Given the description of an element on the screen output the (x, y) to click on. 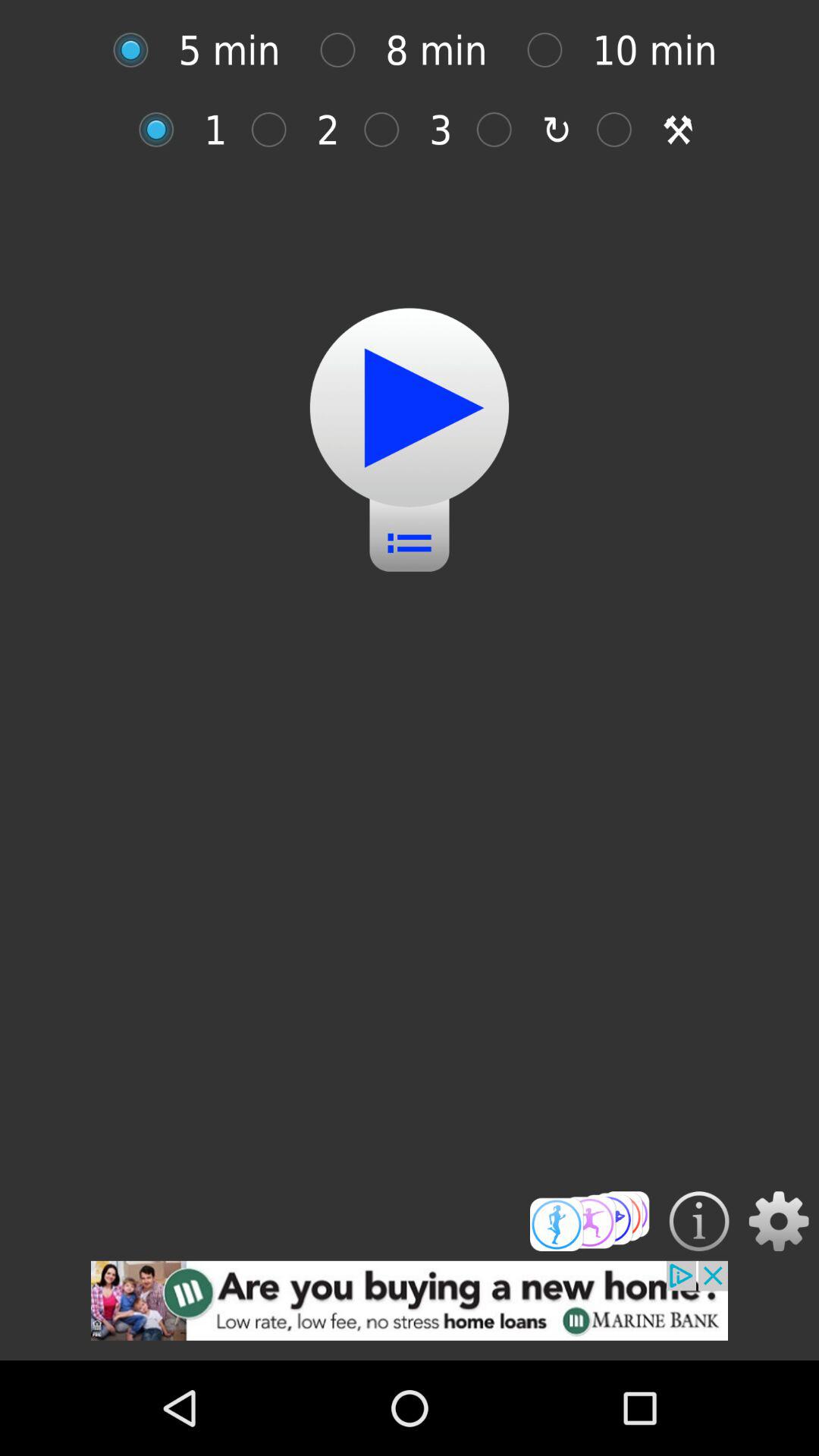
click to five minutes option (138, 49)
